Given the description of an element on the screen output the (x, y) to click on. 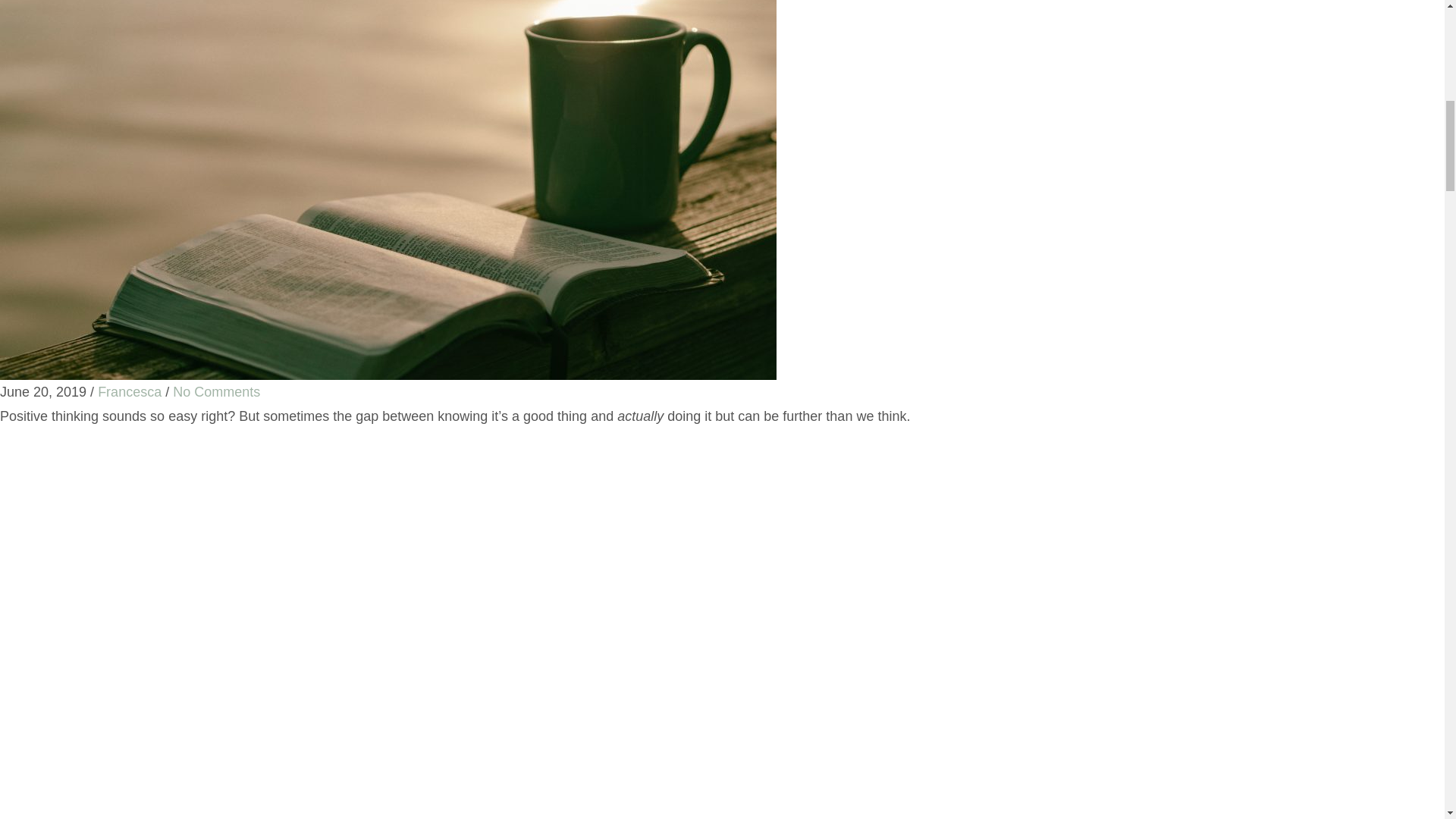
No Comments (216, 391)
Francesca (129, 391)
